Given the description of an element on the screen output the (x, y) to click on. 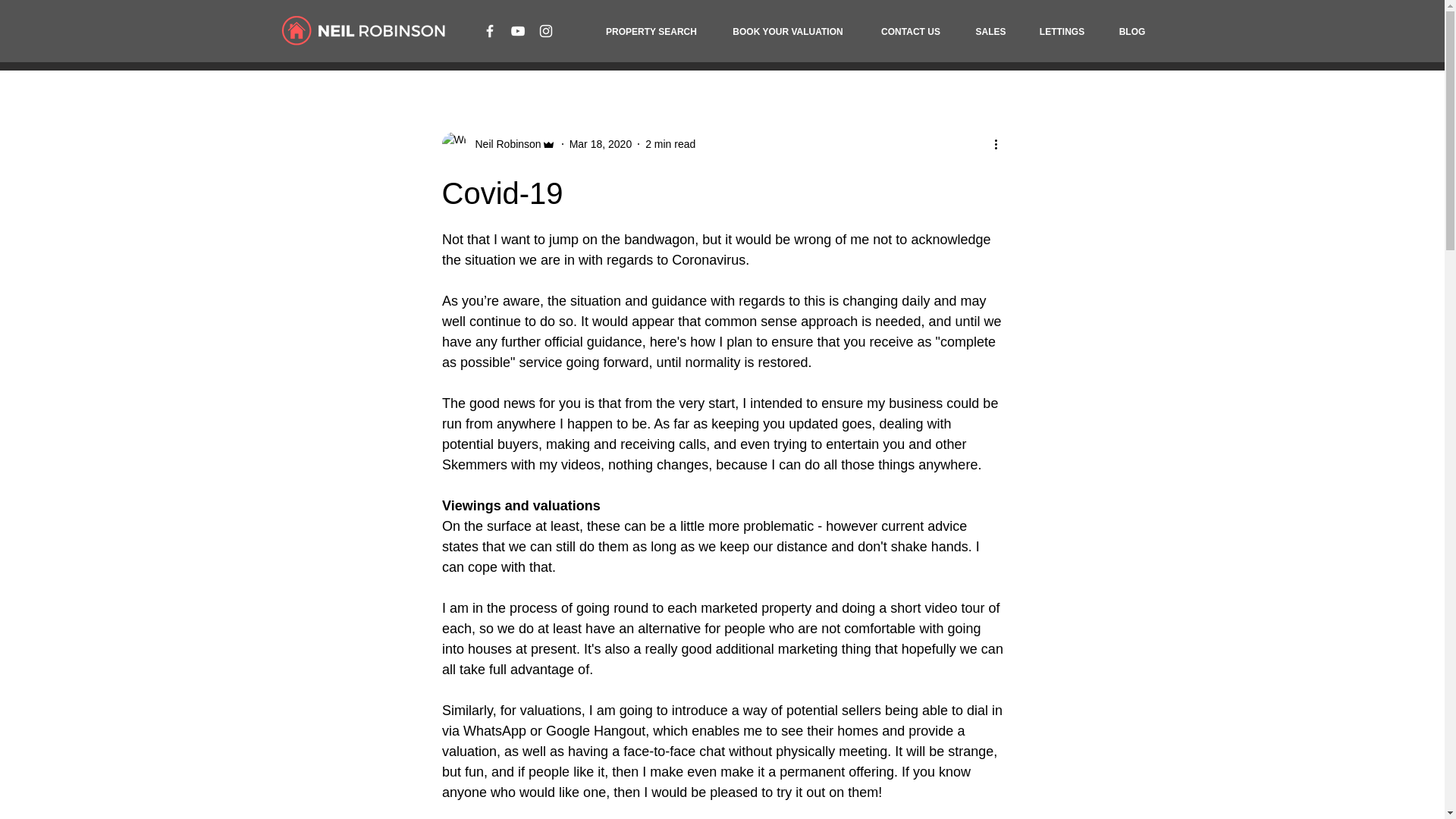
Neil Robinson (502, 144)
BOOK YOUR VALUATION (787, 31)
PROPERTY SEARCH (651, 31)
BLOG (1130, 31)
Mar 18, 2020 (600, 143)
SALES (990, 31)
Neil Robinson (497, 143)
LETTINGS (1061, 31)
2 min read (670, 143)
CONTACT US (911, 31)
